Given the description of an element on the screen output the (x, y) to click on. 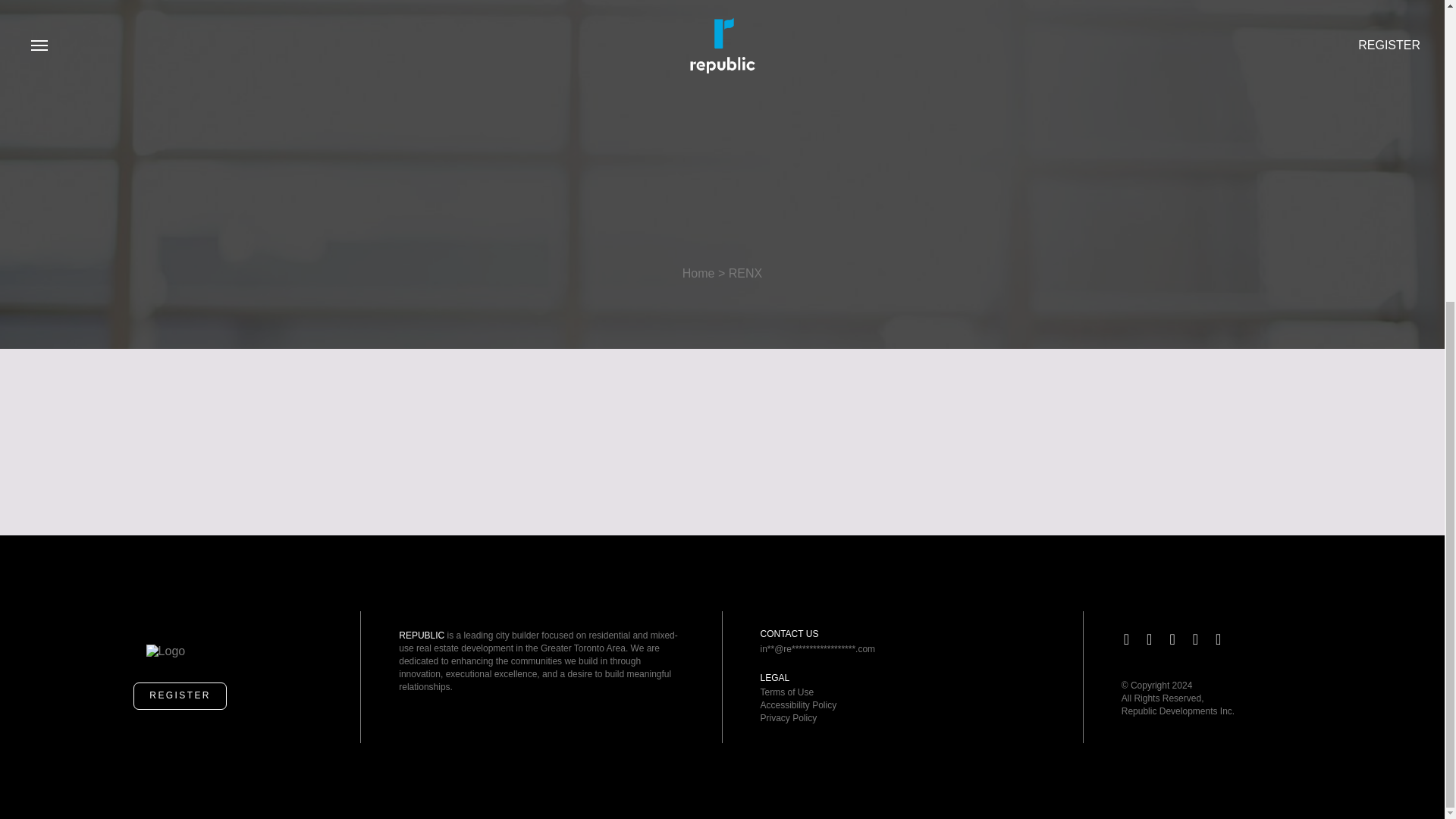
Accessibility Policy (797, 705)
Home (698, 273)
Terms of Use (786, 692)
RENX (745, 273)
REGISTER (180, 696)
Privacy Policy (788, 717)
